Given the description of an element on the screen output the (x, y) to click on. 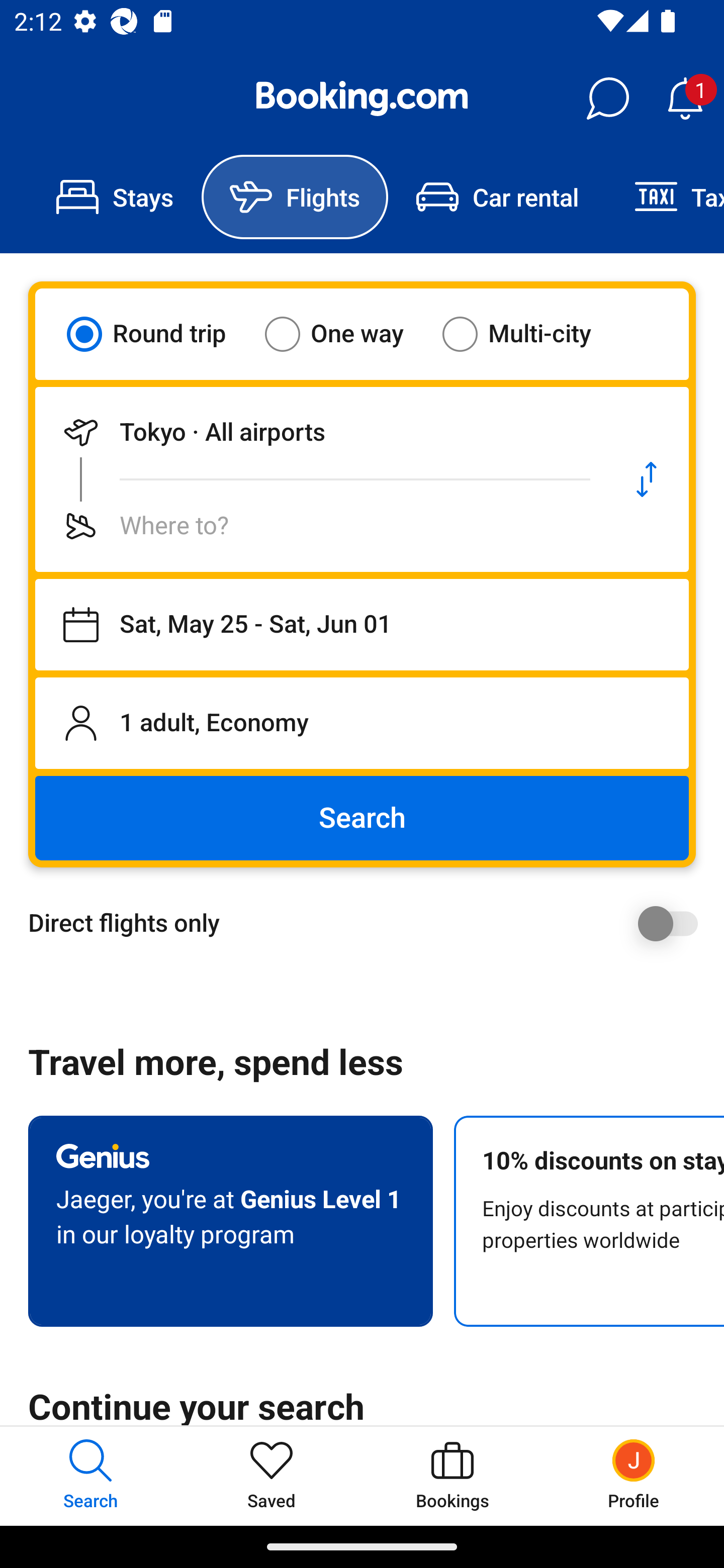
Messages (607, 98)
Notifications (685, 98)
Stays (114, 197)
Flights (294, 197)
Car rental (497, 197)
Taxi (665, 197)
One way (346, 333)
Multi-city (528, 333)
Departing from Tokyo · All airports (319, 432)
Swap departure location and destination (646, 479)
Flying to  (319, 525)
Departing on Sat, May 25, returning on Sat, Jun 01 (361, 624)
1 adult, Economy (361, 722)
Search (361, 818)
Direct flights only (369, 923)
Saved (271, 1475)
Bookings (452, 1475)
Profile (633, 1475)
